Given the description of an element on the screen output the (x, y) to click on. 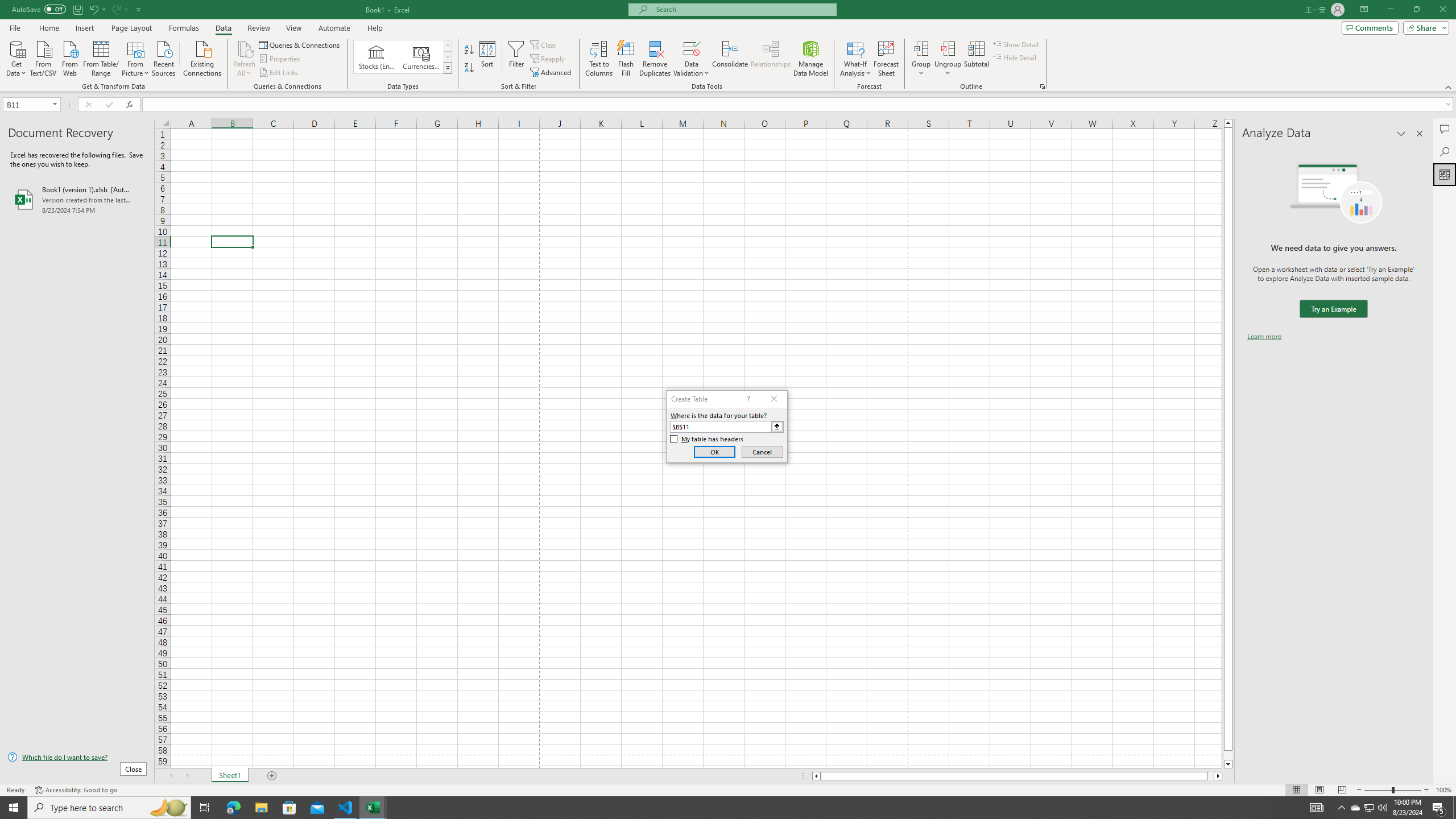
Page right (1211, 775)
View (293, 28)
More Options (947, 68)
Data Validation... (691, 58)
Normal (1296, 790)
System (6, 6)
Undo (92, 9)
Show Detail (1016, 44)
What-If Analysis (855, 58)
Class: MsoCommandBar (728, 45)
AutomationID: ConvertToLinkedEntity (403, 56)
Data Types (448, 67)
Column left (815, 775)
Zoom Out (1377, 790)
Filter (515, 58)
